Given the description of an element on the screen output the (x, y) to click on. 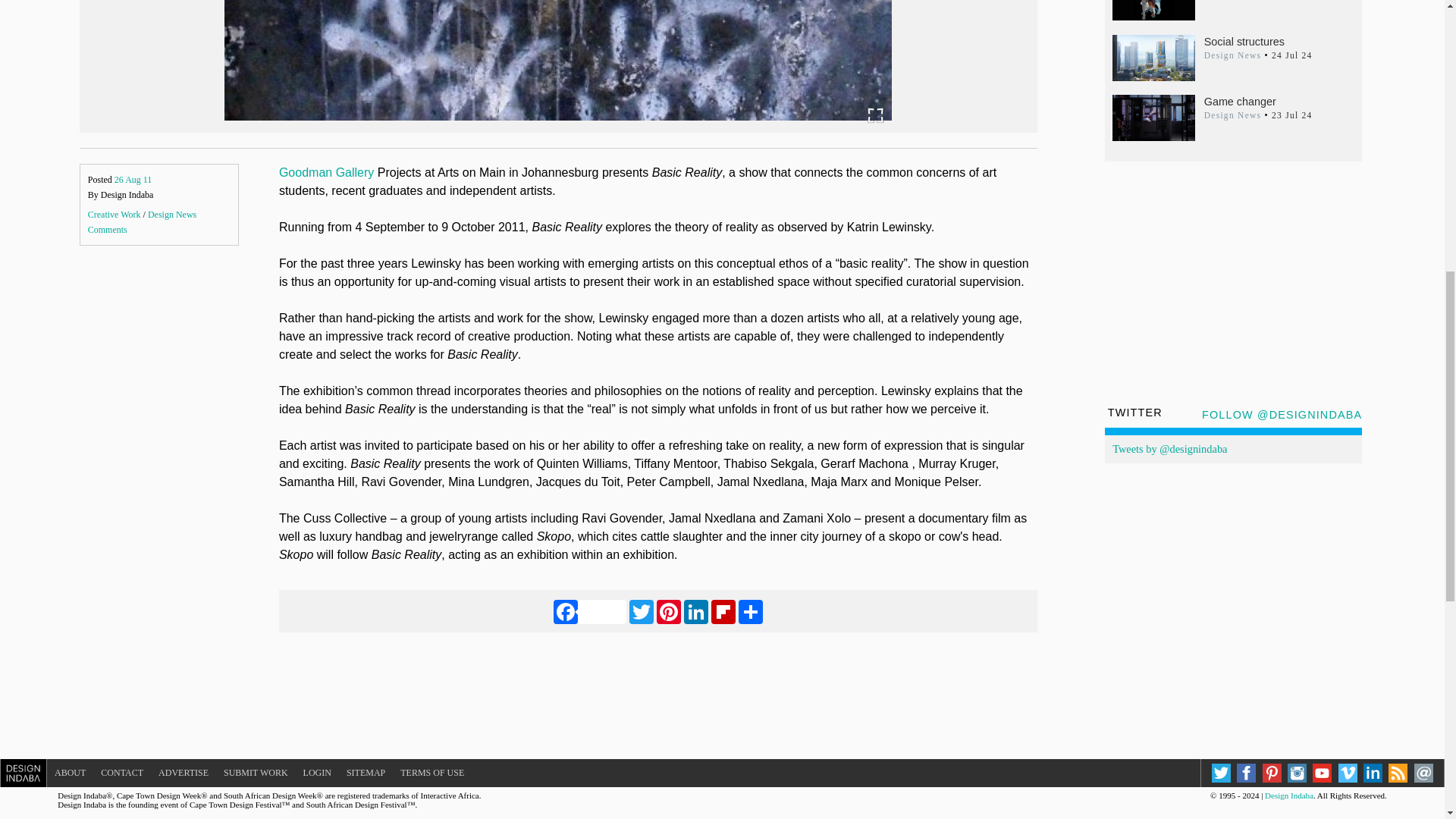
Creative Work (114, 214)
26 Aug 11 (133, 179)
Design News (172, 214)
Comments (107, 229)
